Given the description of an element on the screen output the (x, y) to click on. 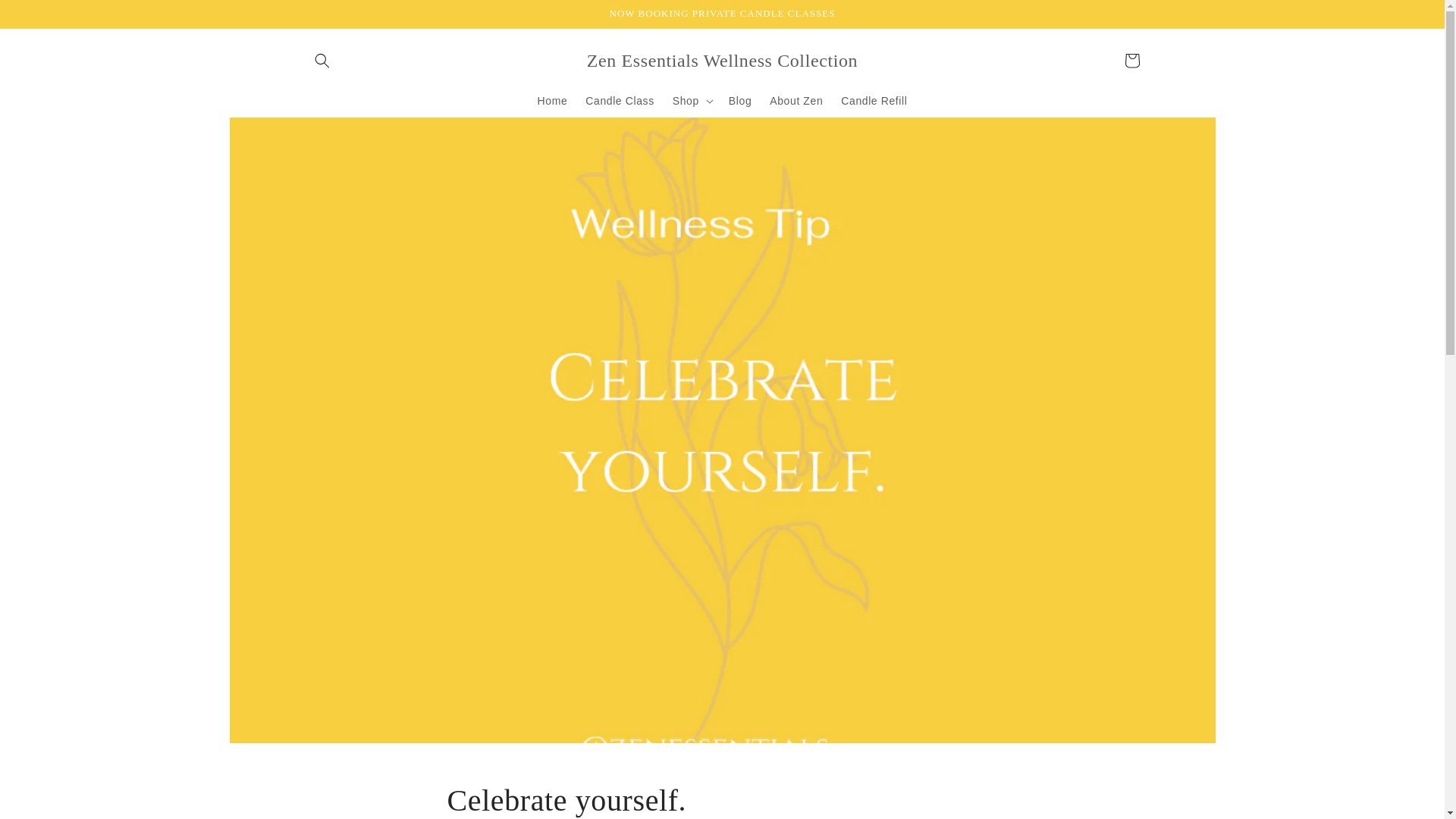
Zen Essentials Wellness Collection (721, 60)
Candle Refill (873, 101)
About Zen (795, 101)
Skip to content (45, 17)
Blog (739, 101)
Cart (1131, 60)
Home (552, 101)
Candle Class (619, 101)
